Given the description of an element on the screen output the (x, y) to click on. 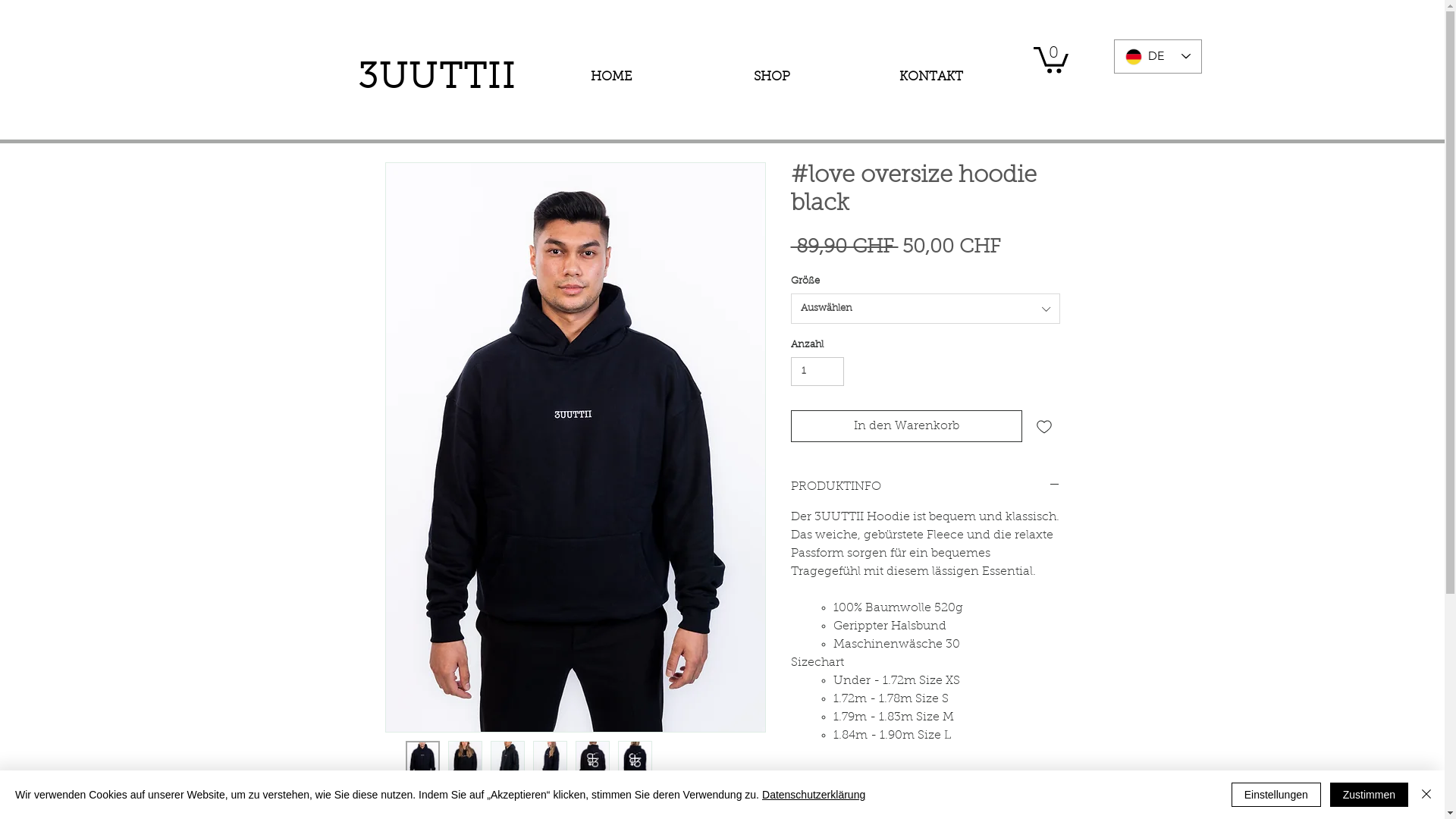
In den Warenkorb Element type: text (905, 426)
SHOP Element type: text (771, 76)
PRODUKTINFO Element type: text (924, 486)
0 Element type: text (1049, 58)
HOME Element type: text (610, 76)
KONTAKT Element type: text (930, 76)
3UUTTII Element type: text (436, 79)
